Given the description of an element on the screen output the (x, y) to click on. 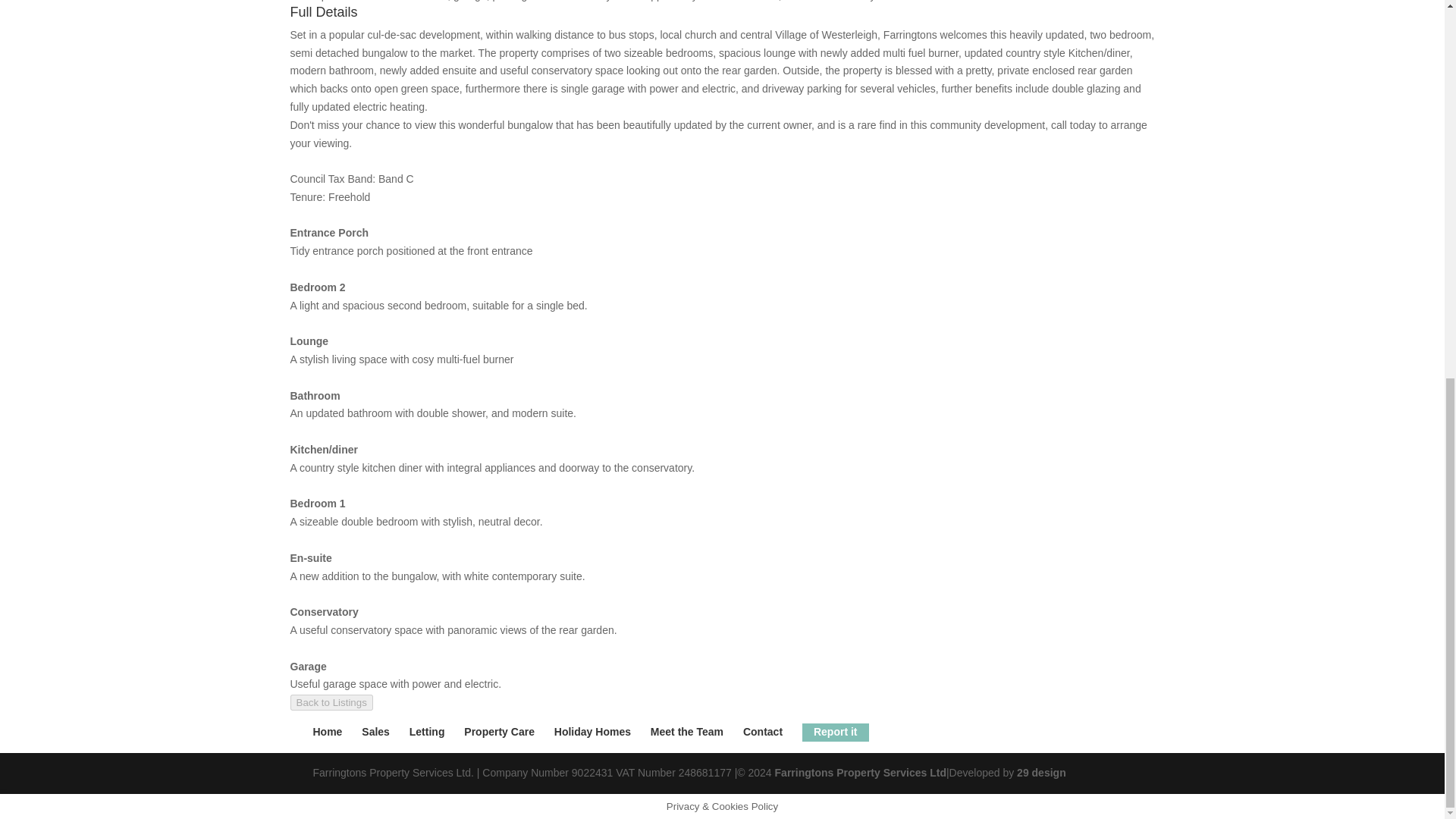
Home (327, 731)
Letting (427, 731)
Sales (375, 731)
Back to Listings (330, 702)
